Given the description of an element on the screen output the (x, y) to click on. 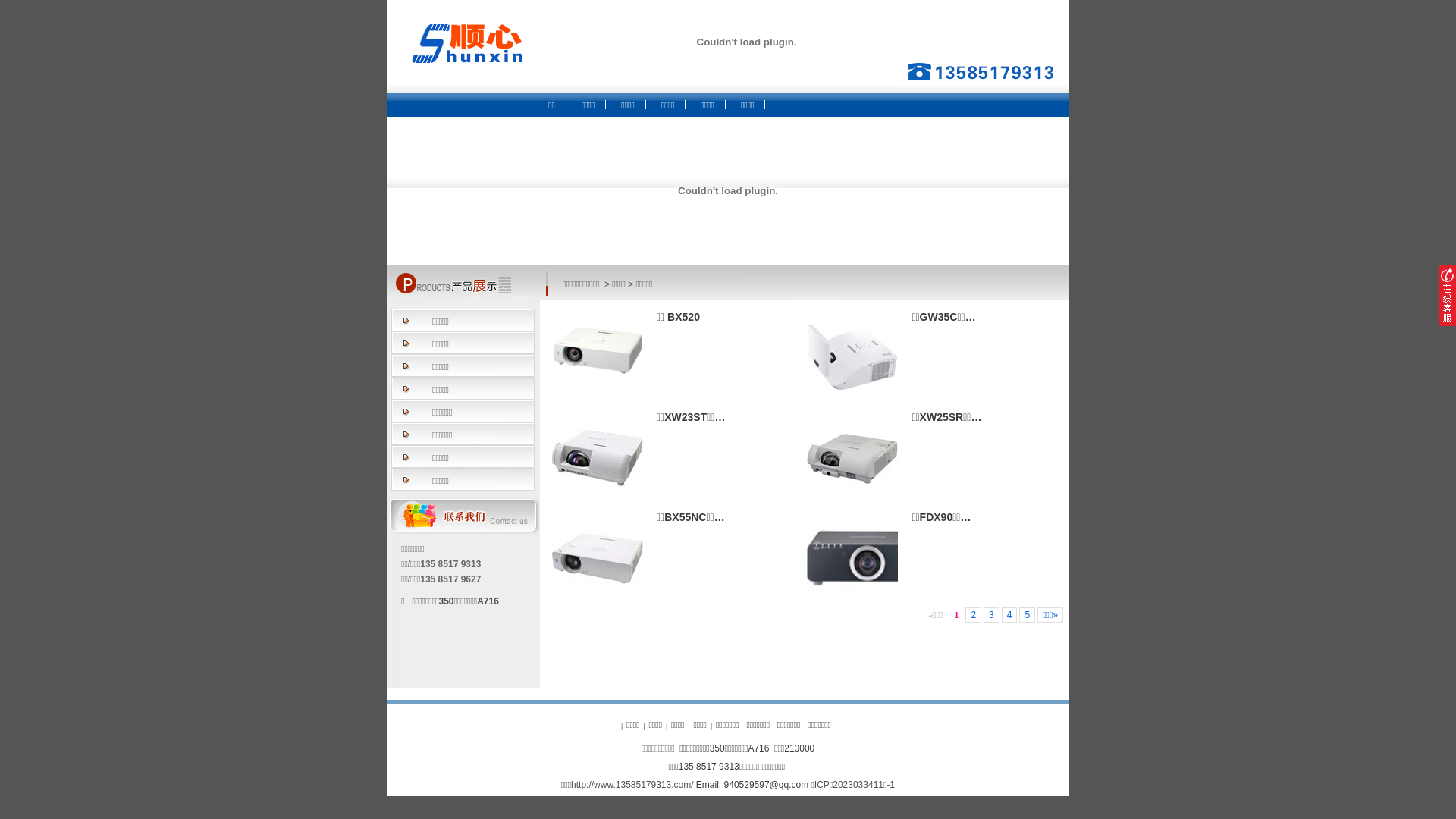
 >  Element type: text (605, 284)
http://www.13585179313.com/ Element type: text (632, 784)
3 Element type: text (991, 614)
2 Element type: text (973, 614)
5 Element type: text (1027, 614)
4 Element type: text (1009, 614)
